Given the description of an element on the screen output the (x, y) to click on. 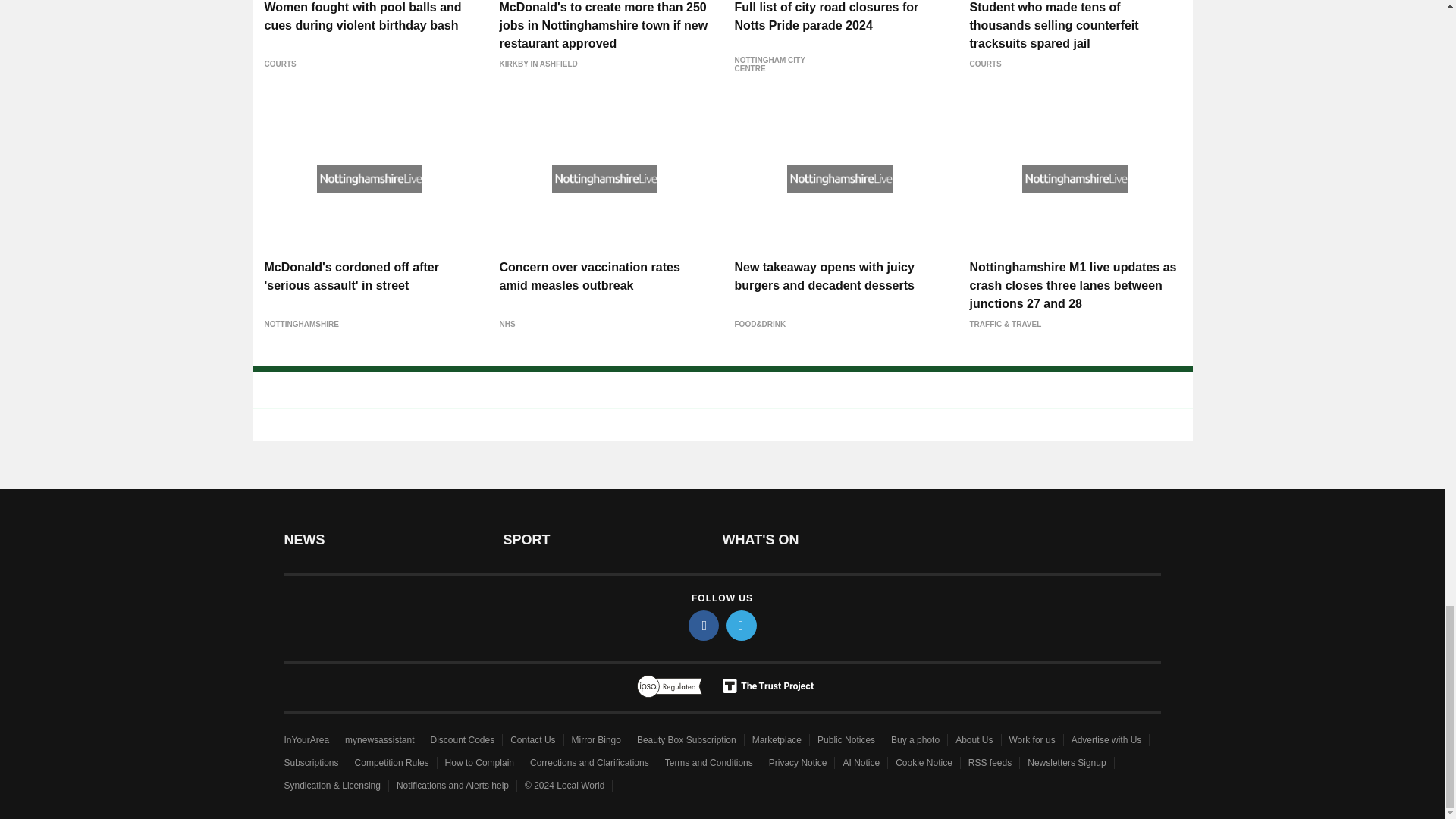
twitter (741, 625)
facebook (703, 625)
